Given the description of an element on the screen output the (x, y) to click on. 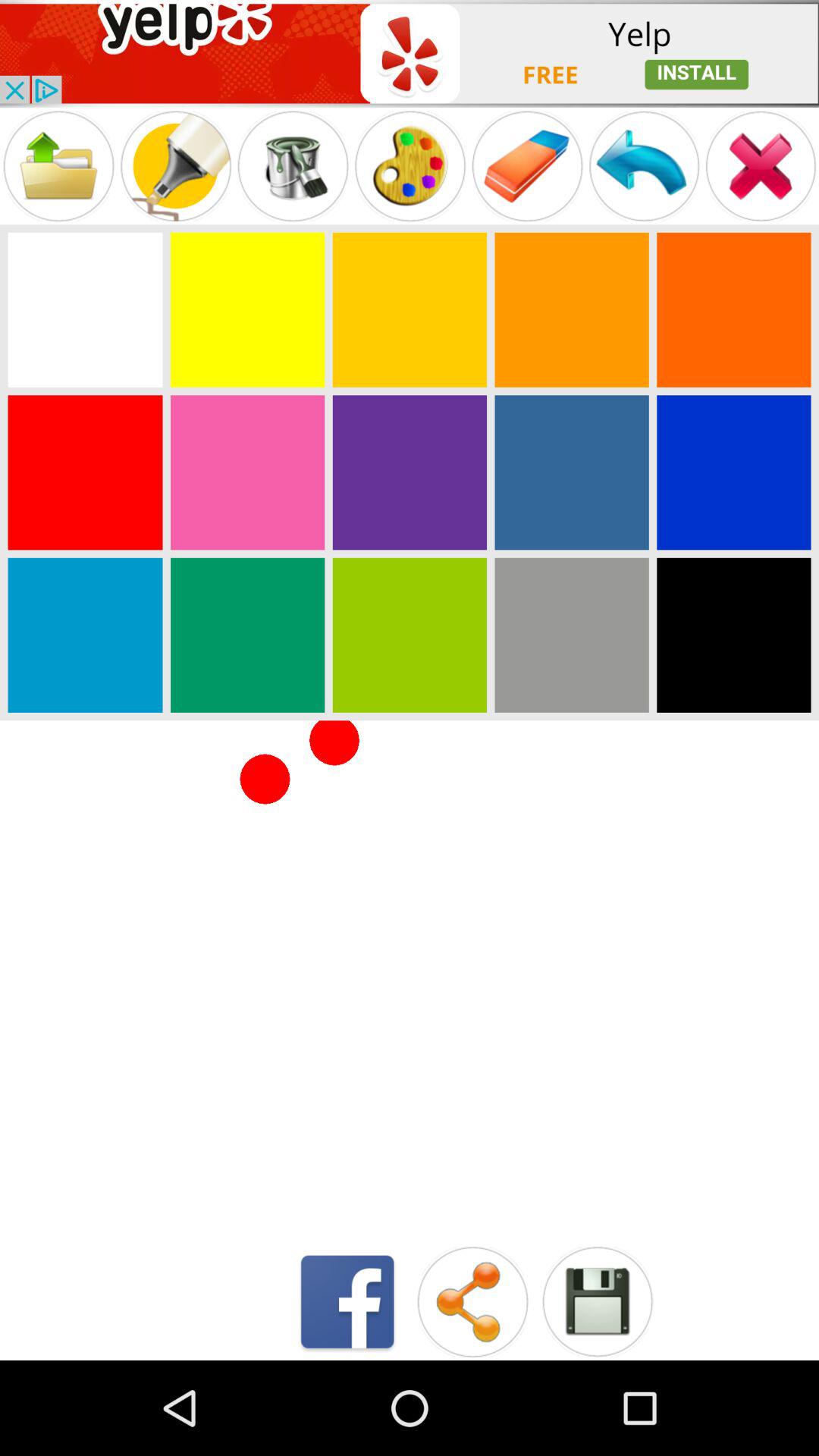
select the color (84, 309)
